Given the description of an element on the screen output the (x, y) to click on. 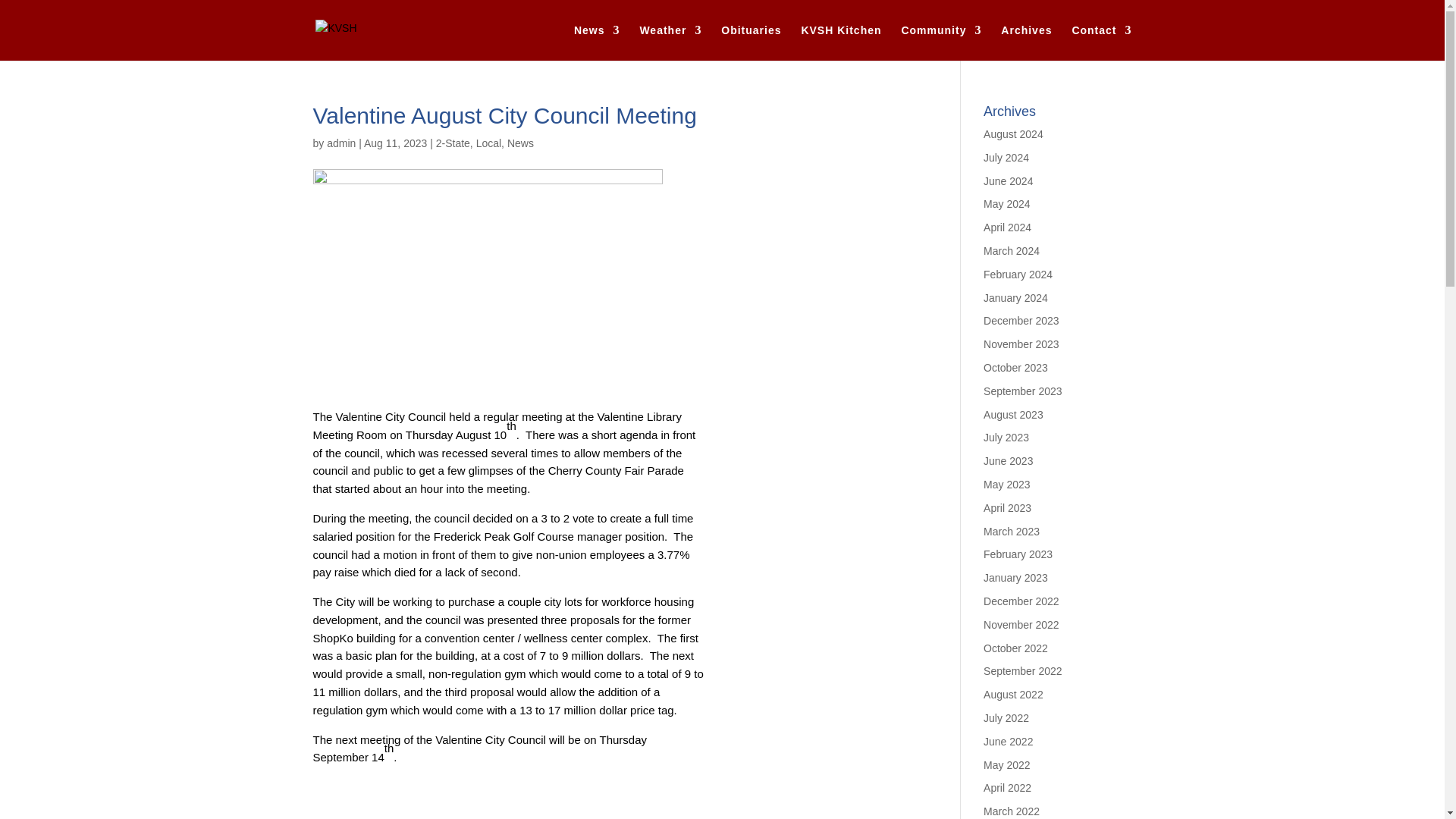
Obituaries (750, 42)
July 2023 (1006, 437)
August 2023 (1013, 414)
November 2023 (1021, 344)
Weather (670, 42)
December 2023 (1021, 320)
March 2024 (1011, 250)
News (596, 42)
June 2023 (1008, 460)
September 2023 (1023, 390)
